Given the description of an element on the screen output the (x, y) to click on. 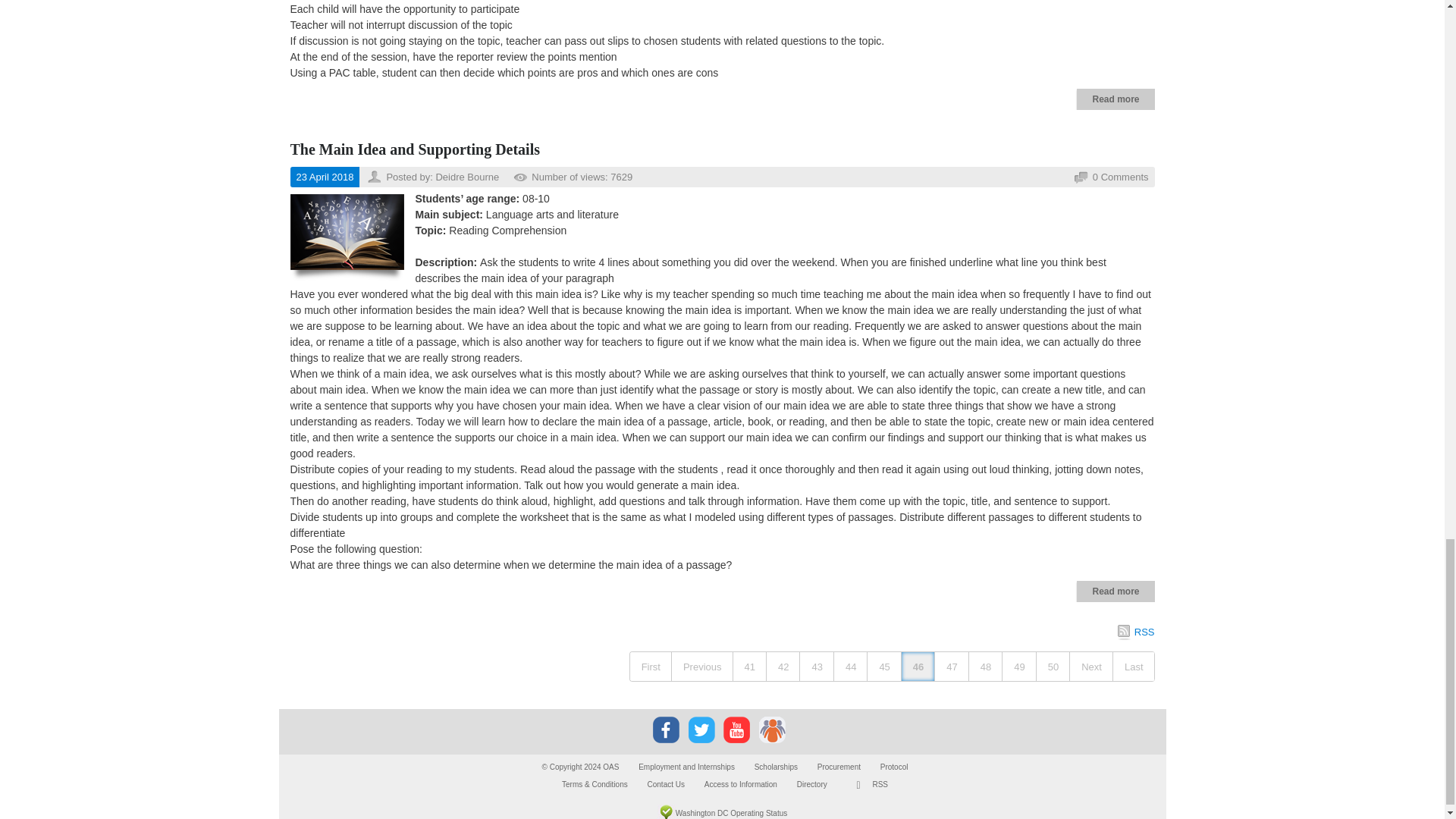
ITEN Facebook (665, 729)
ITEN Facebook (665, 729)
ITEN Twitter (701, 729)
ITEN Twitter (701, 729)
